Given the description of an element on the screen output the (x, y) to click on. 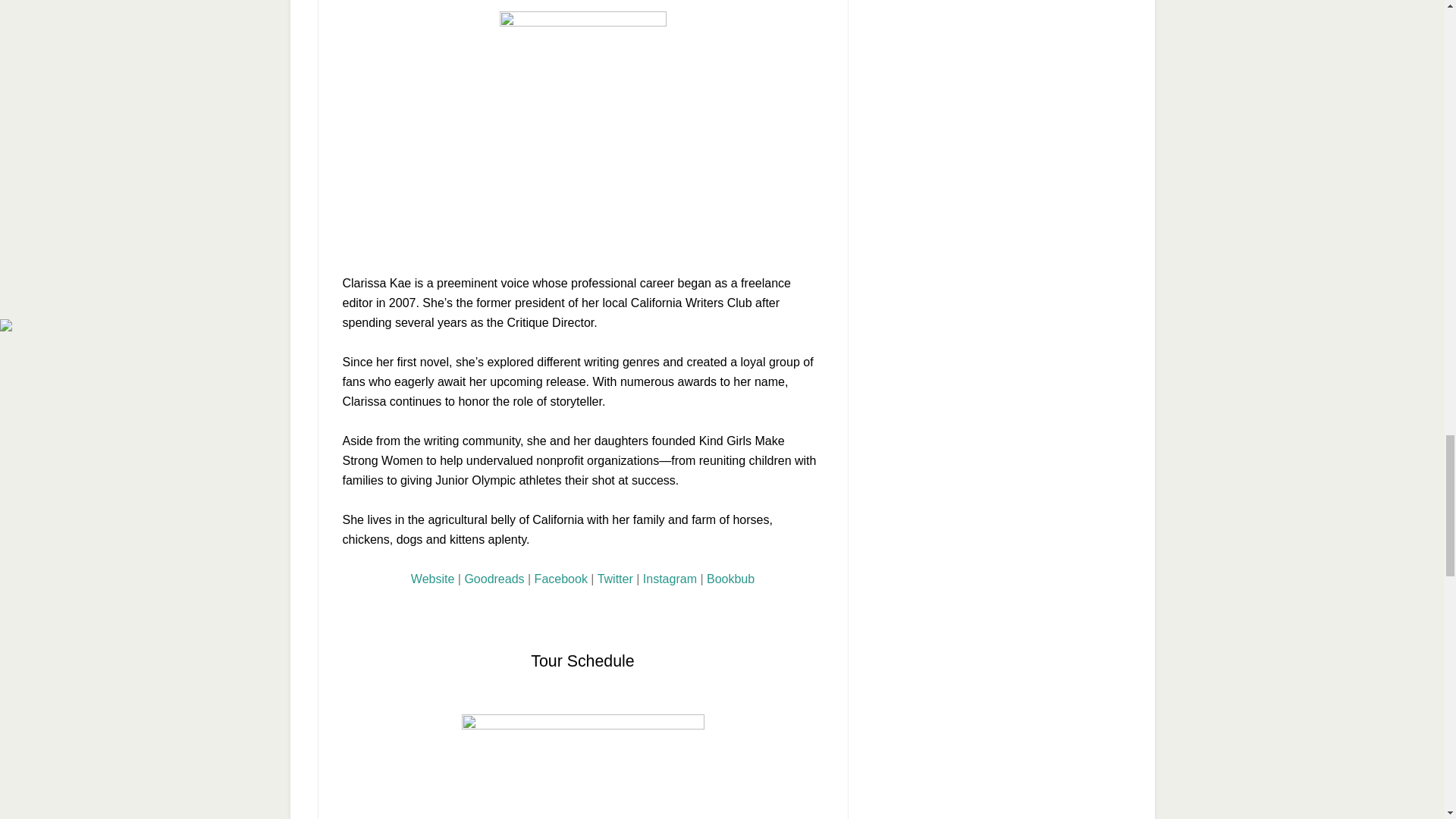
Bookbub (730, 578)
Website (432, 578)
Goodreads (494, 578)
Facebook (561, 578)
Instagram (670, 578)
Twitter (614, 578)
